Given the description of an element on the screen output the (x, y) to click on. 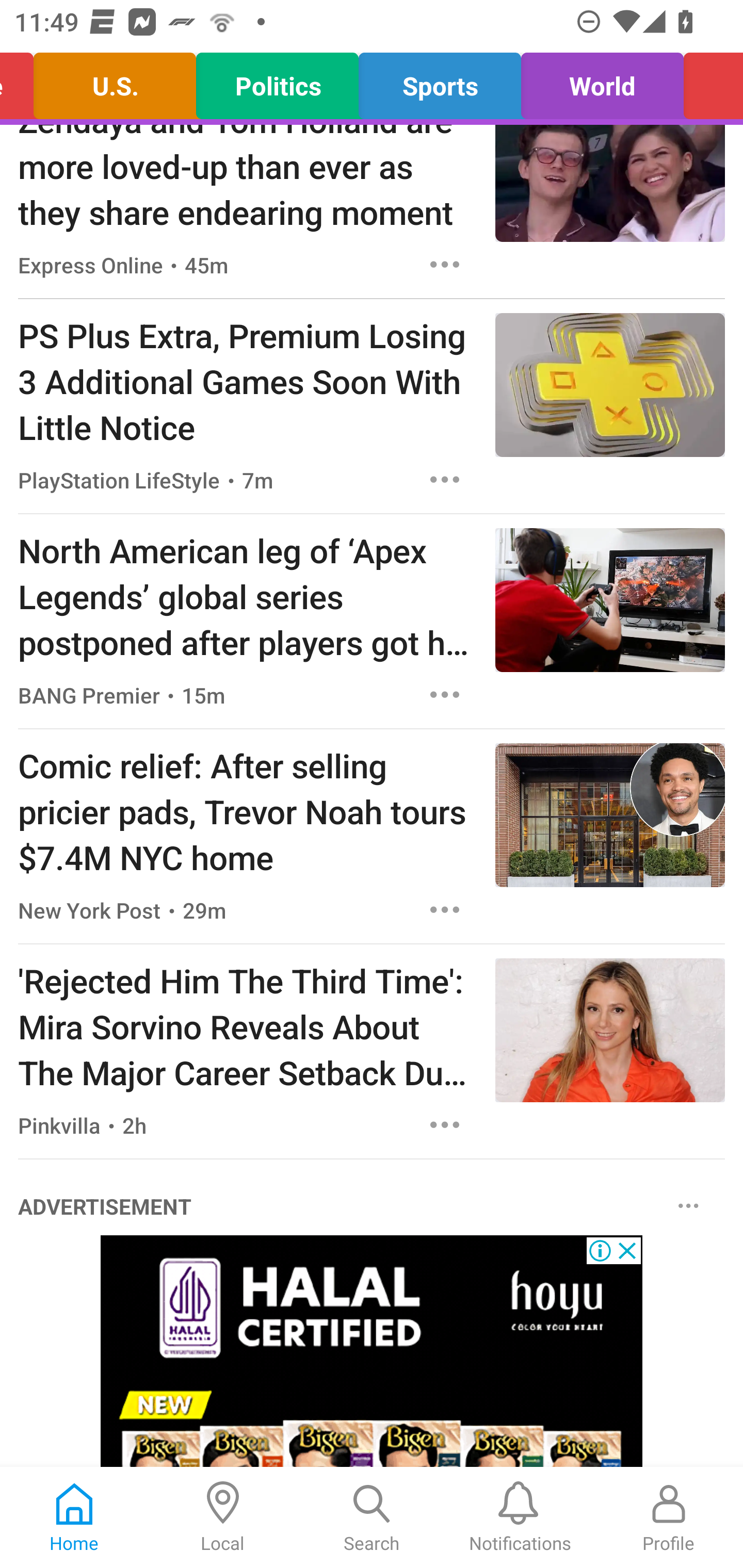
U.S. (114, 81)
Politics (277, 81)
Sports (439, 81)
World (602, 81)
Options (444, 264)
Options (444, 479)
Options (444, 694)
Options (444, 909)
Options (444, 1124)
Options (688, 1206)
28 (371, 1351)
Local (222, 1517)
Search (371, 1517)
Notifications (519, 1517)
Profile (668, 1517)
